Given the description of an element on the screen output the (x, y) to click on. 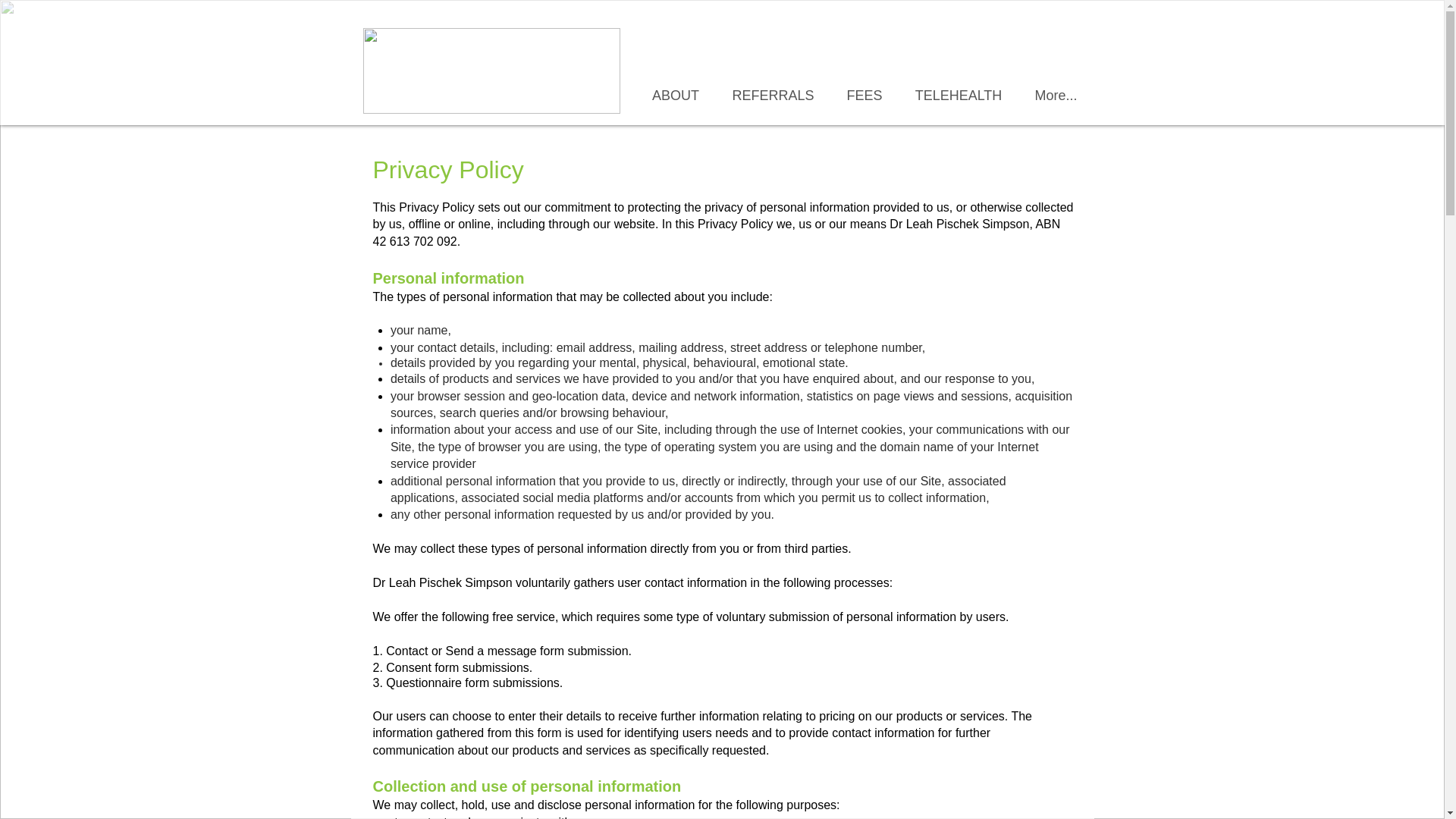
ABOUT (674, 95)
REFERRALS (772, 95)
FEES (863, 95)
TELEHEALTH (957, 95)
